Given the description of an element on the screen output the (x, y) to click on. 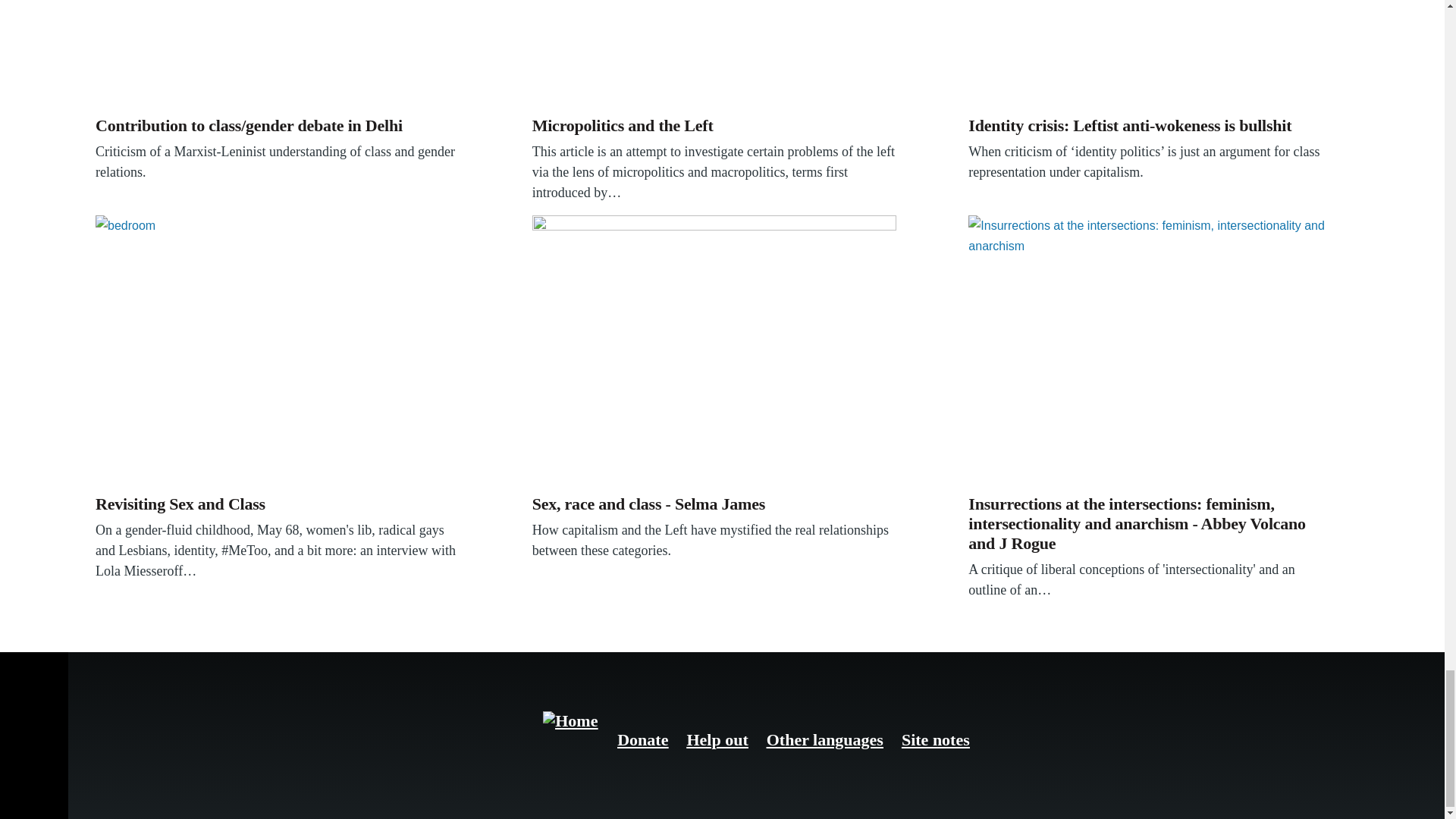
Help out (716, 739)
Donate (642, 739)
libcom content in languages other than English (825, 739)
Site notes (935, 739)
Other languages (825, 739)
